Given the description of an element on the screen output the (x, y) to click on. 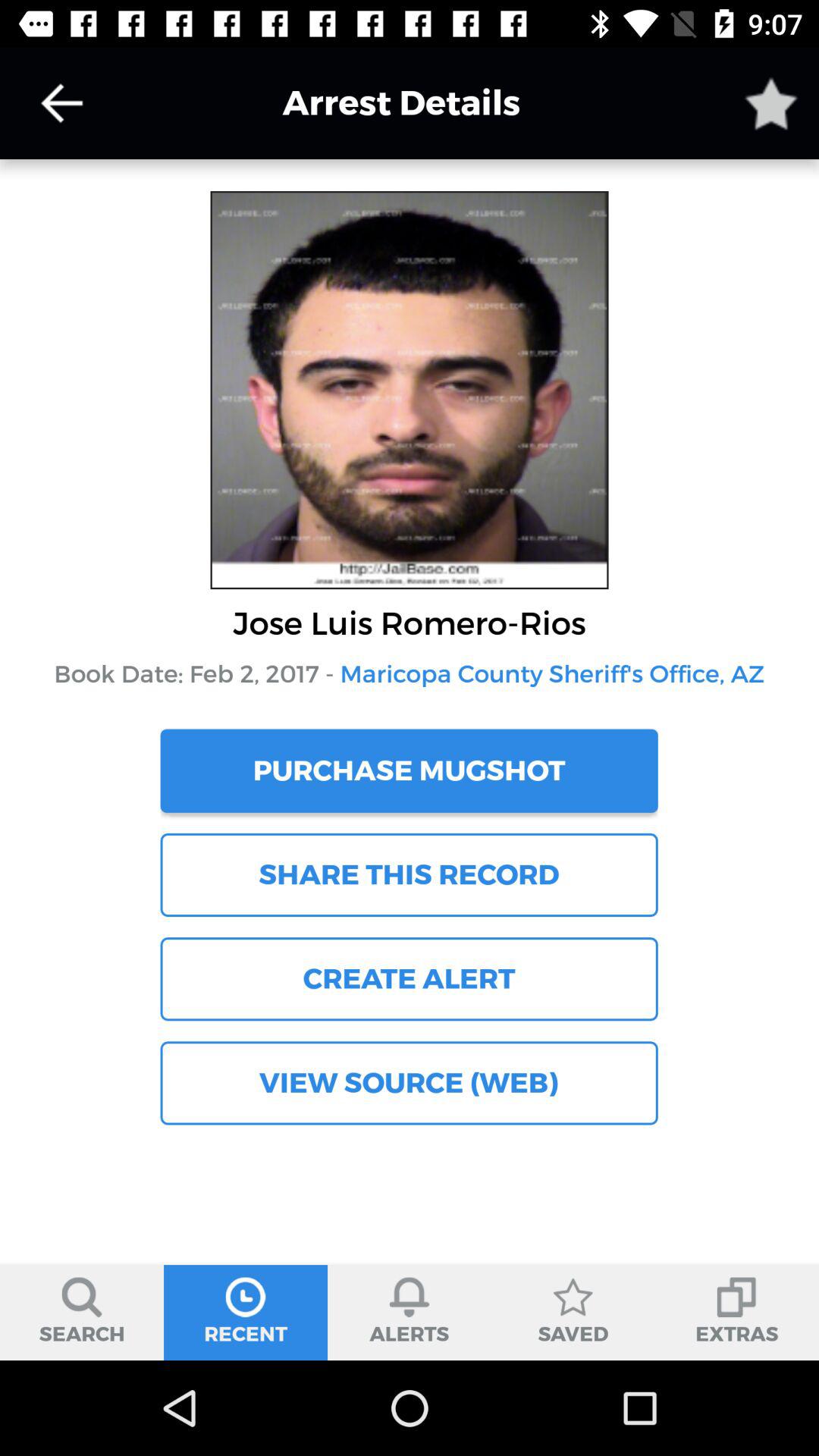
tap icon next to the       arrest details (771, 103)
